Given the description of an element on the screen output the (x, y) to click on. 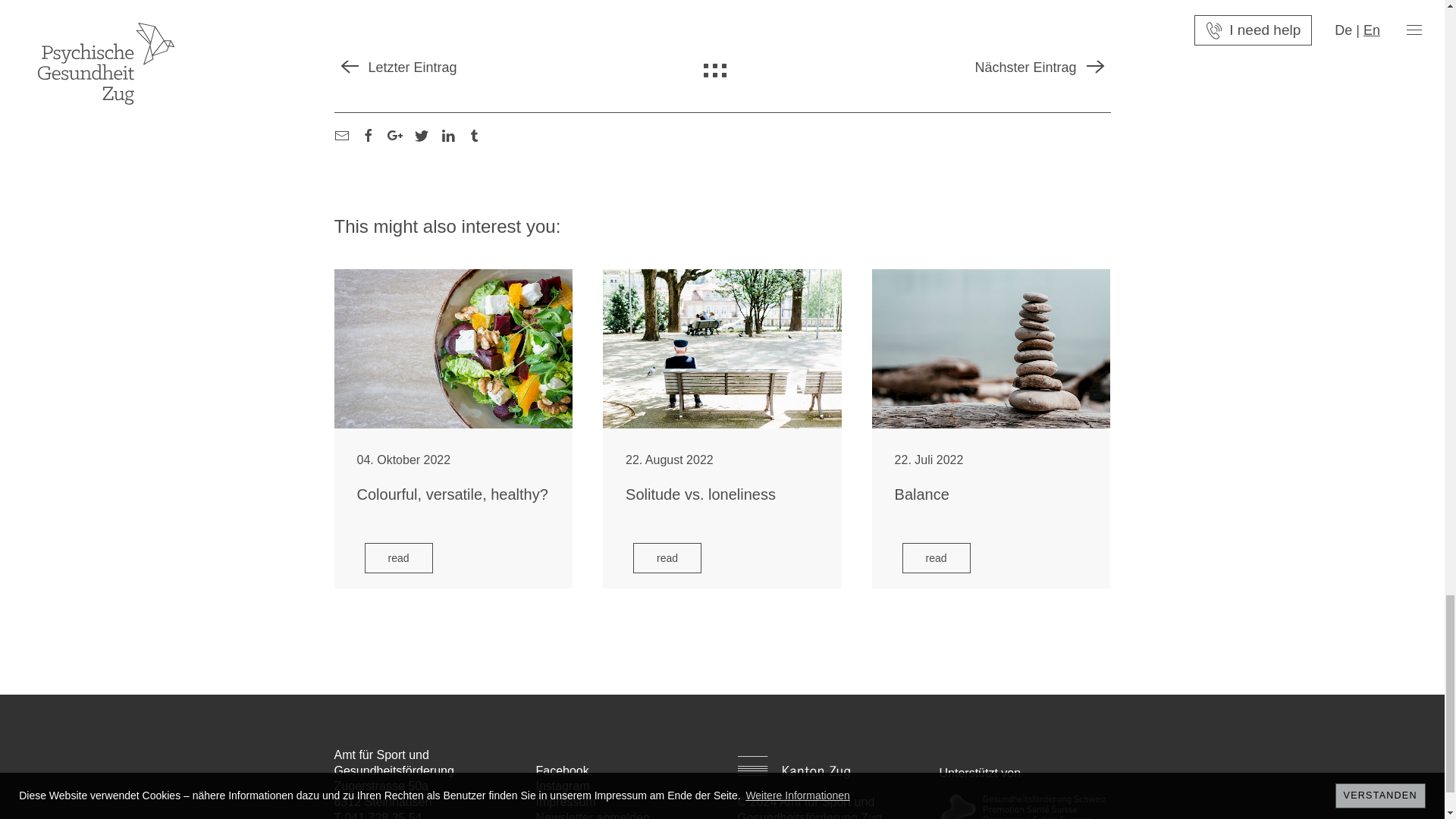
twitter (421, 133)
Letzter Eintrag (395, 67)
facebook (368, 133)
linkedin (446, 133)
googleplus (394, 133)
tumblr (474, 133)
email (341, 133)
